Given the description of an element on the screen output the (x, y) to click on. 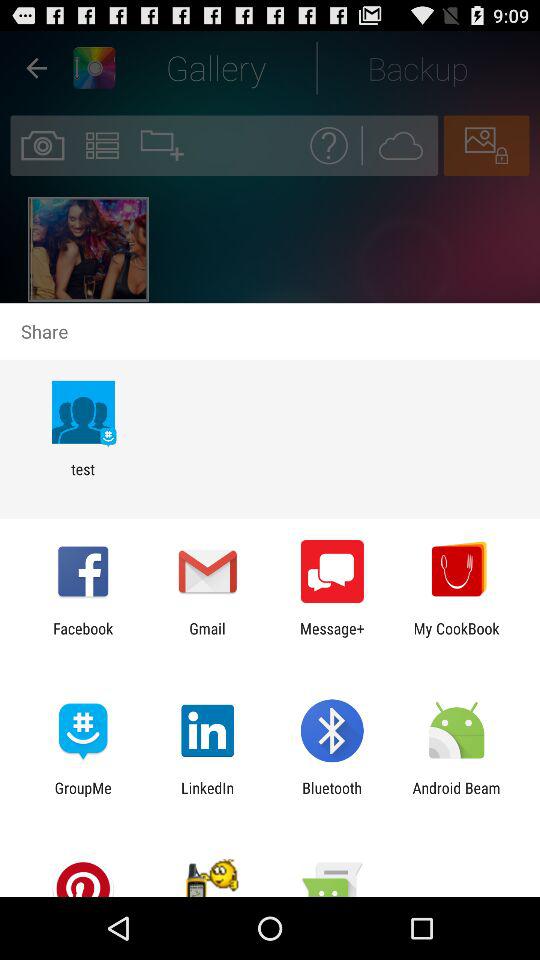
turn on the icon to the left of android beam app (331, 796)
